Given the description of an element on the screen output the (x, y) to click on. 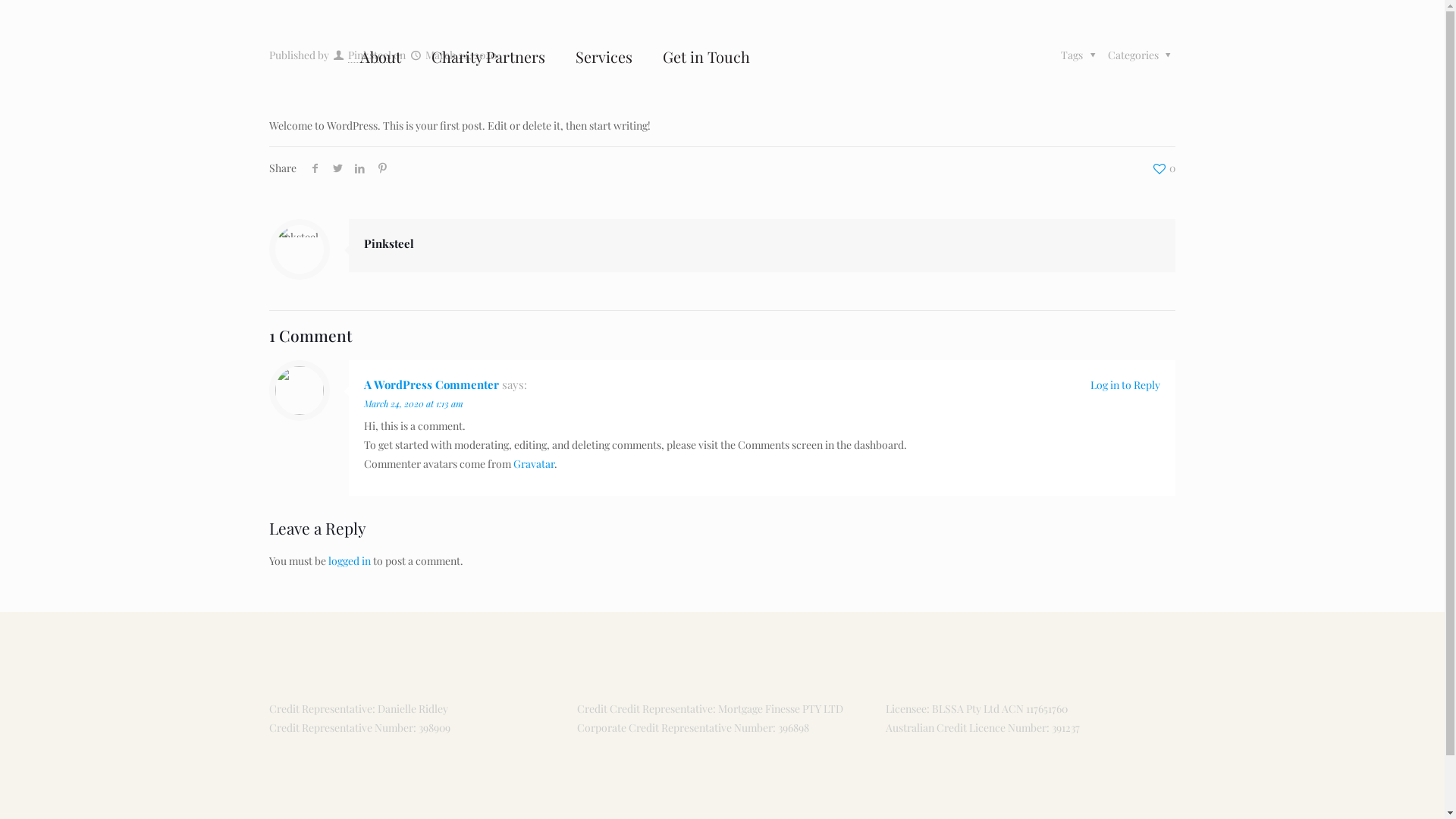
Gravatar Element type: text (533, 463)
Log in to Reply Element type: text (1125, 384)
Services Element type: text (603, 56)
A WordPress Commenter Element type: text (431, 384)
logged in Element type: text (349, 560)
Pinksteel Element type: text (369, 54)
About Element type: text (380, 56)
March 24, 2020 at 1:13 am Element type: text (413, 403)
Charity Partners Element type: text (488, 56)
Pinksteel Element type: text (389, 243)
Get in Touch Element type: text (706, 56)
0 Element type: text (1163, 167)
